Given the description of an element on the screen output the (x, y) to click on. 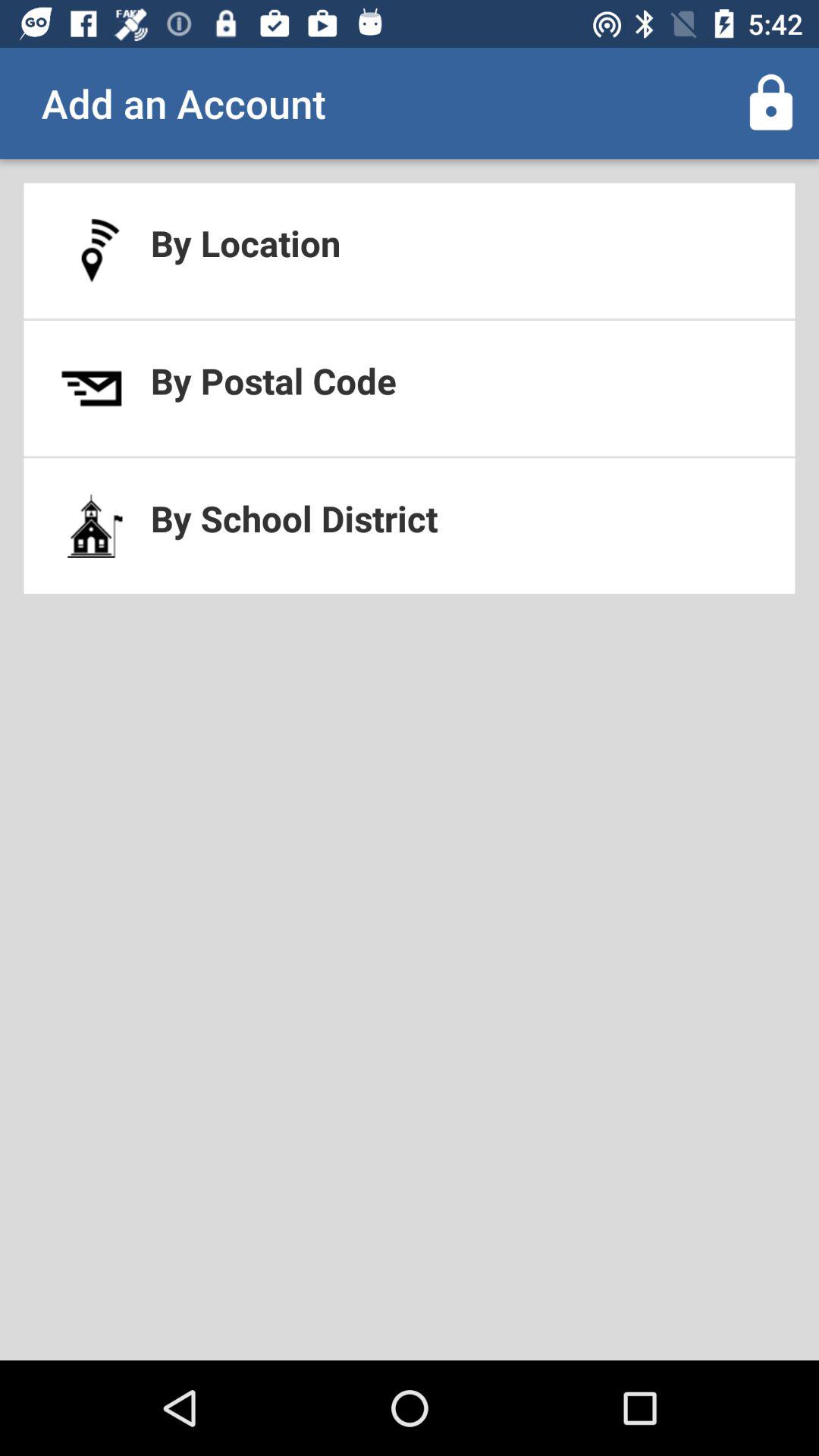
open the icon above    by location (771, 103)
